Given the description of an element on the screen output the (x, y) to click on. 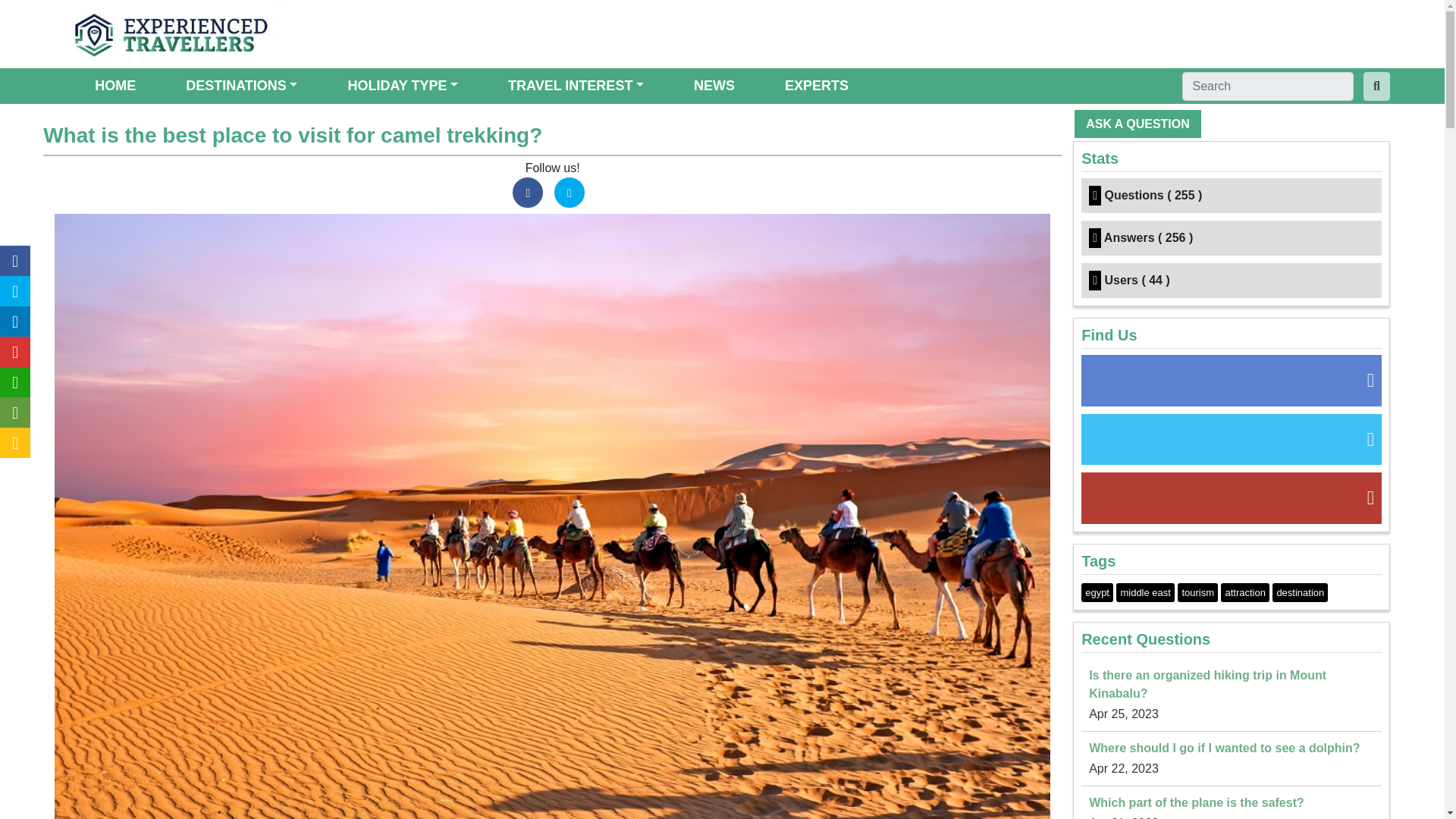
Email (15, 412)
Copy Link (15, 442)
Whatsapp (15, 381)
DESTINATIONS (240, 86)
HOLIDAY TYPE (402, 86)
